Given the description of an element on the screen output the (x, y) to click on. 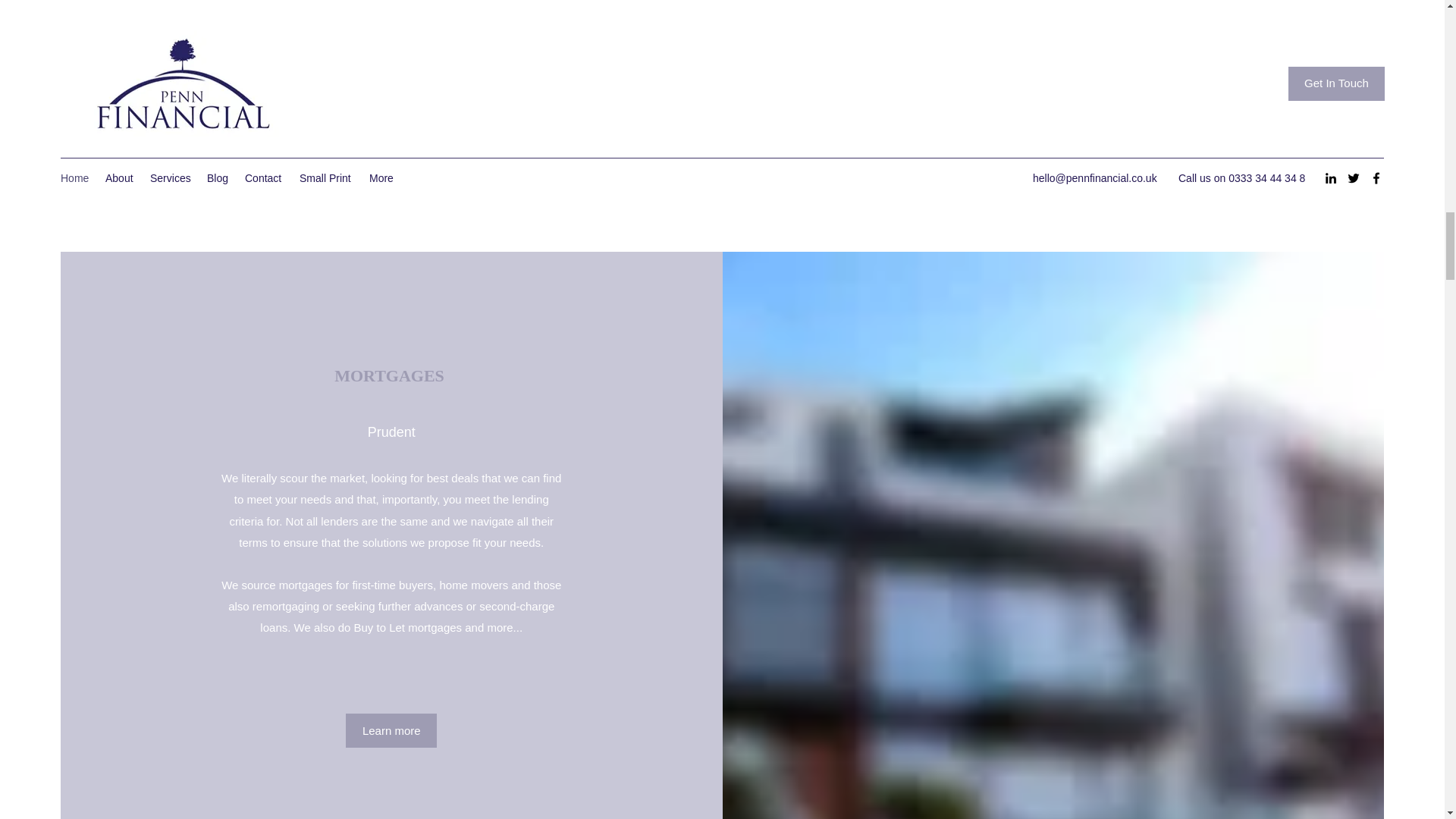
Penn Group of Companies is a  (620, 33)
first-time buyers, home  (411, 584)
We source mortgages for  (286, 584)
Learn more (391, 730)
Learn More (723, 165)
uy to Let mortgages and more... (441, 626)
